Given the description of an element on the screen output the (x, y) to click on. 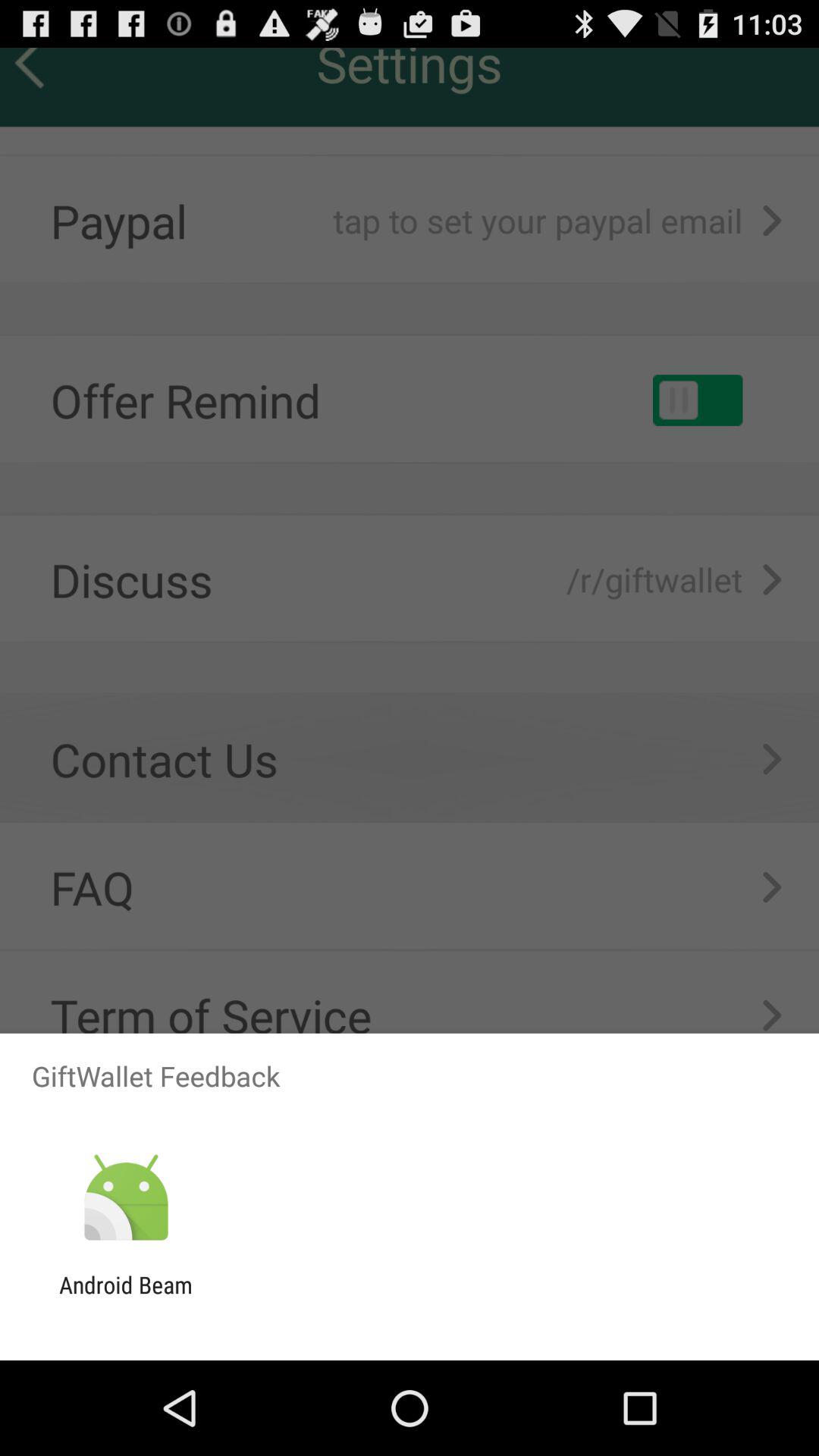
select the item below the giftwallet feedback item (126, 1198)
